Given the description of an element on the screen output the (x, y) to click on. 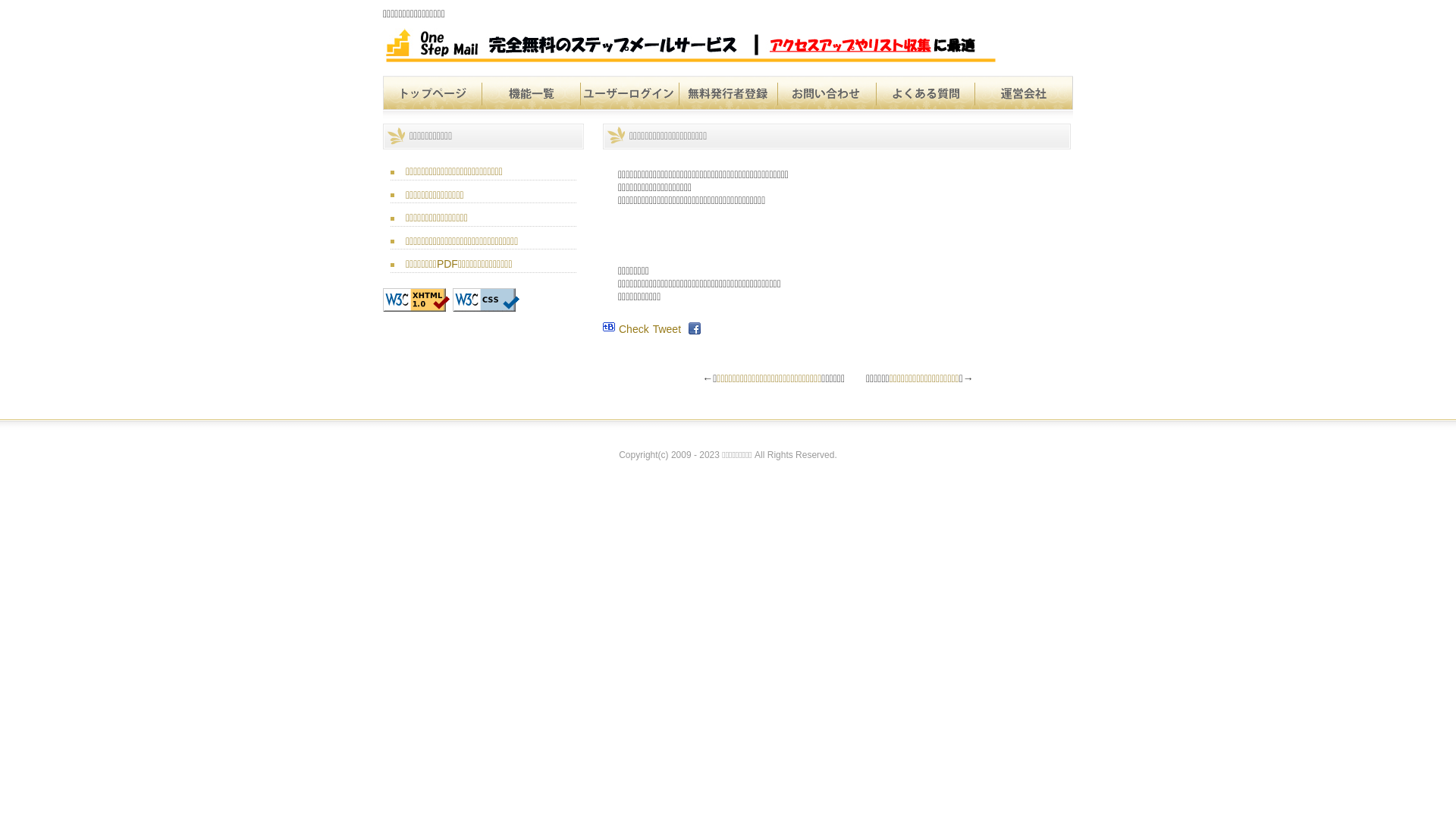
Tweet Element type: text (666, 329)
Check Element type: text (633, 329)
